Given the description of an element on the screen output the (x, y) to click on. 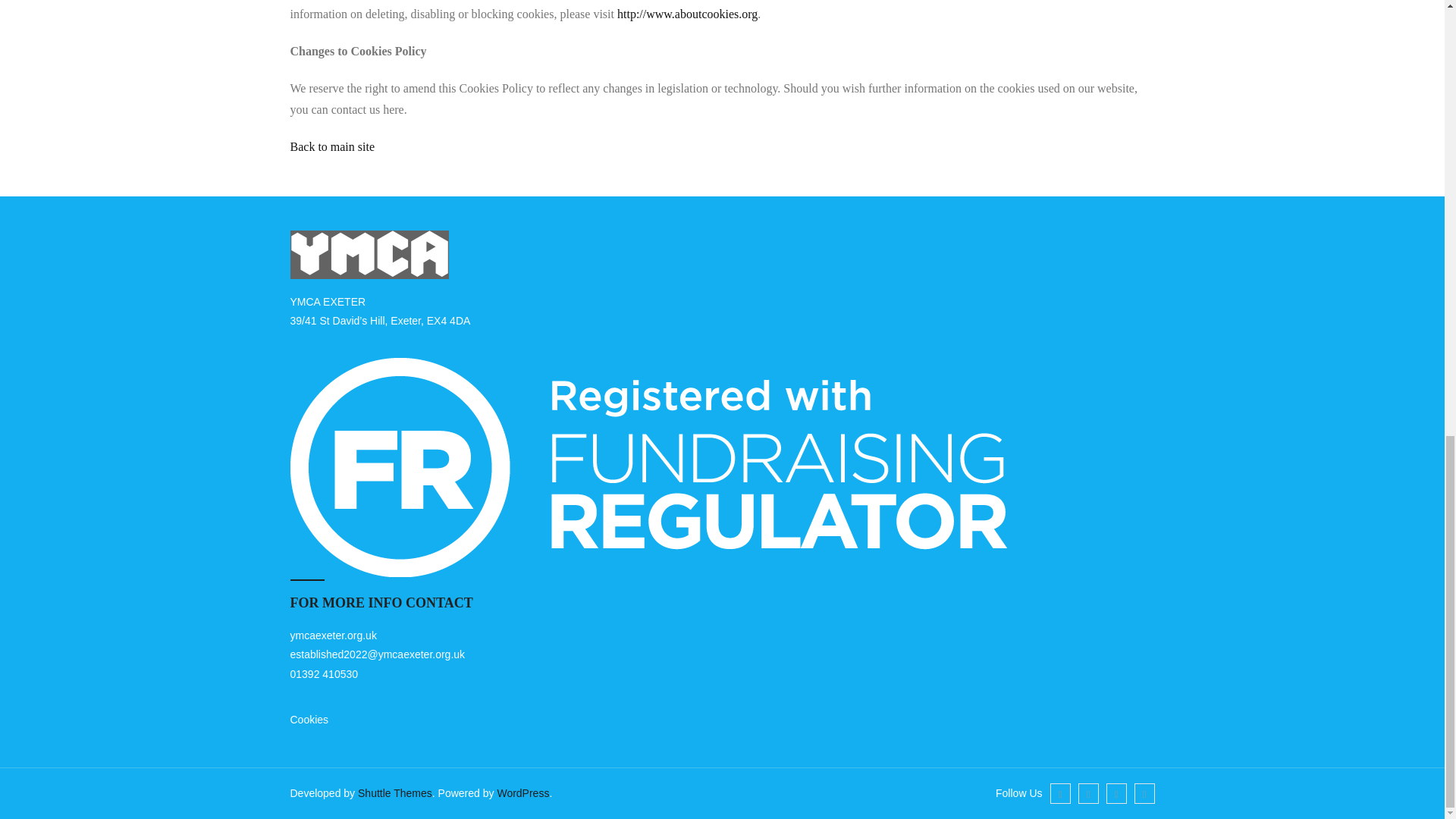
WordPress (522, 793)
Cookies (309, 719)
ymcaexeter.org.uk (332, 635)
Shuttle Themes (395, 793)
Back to main site (331, 146)
